Given the description of an element on the screen output the (x, y) to click on. 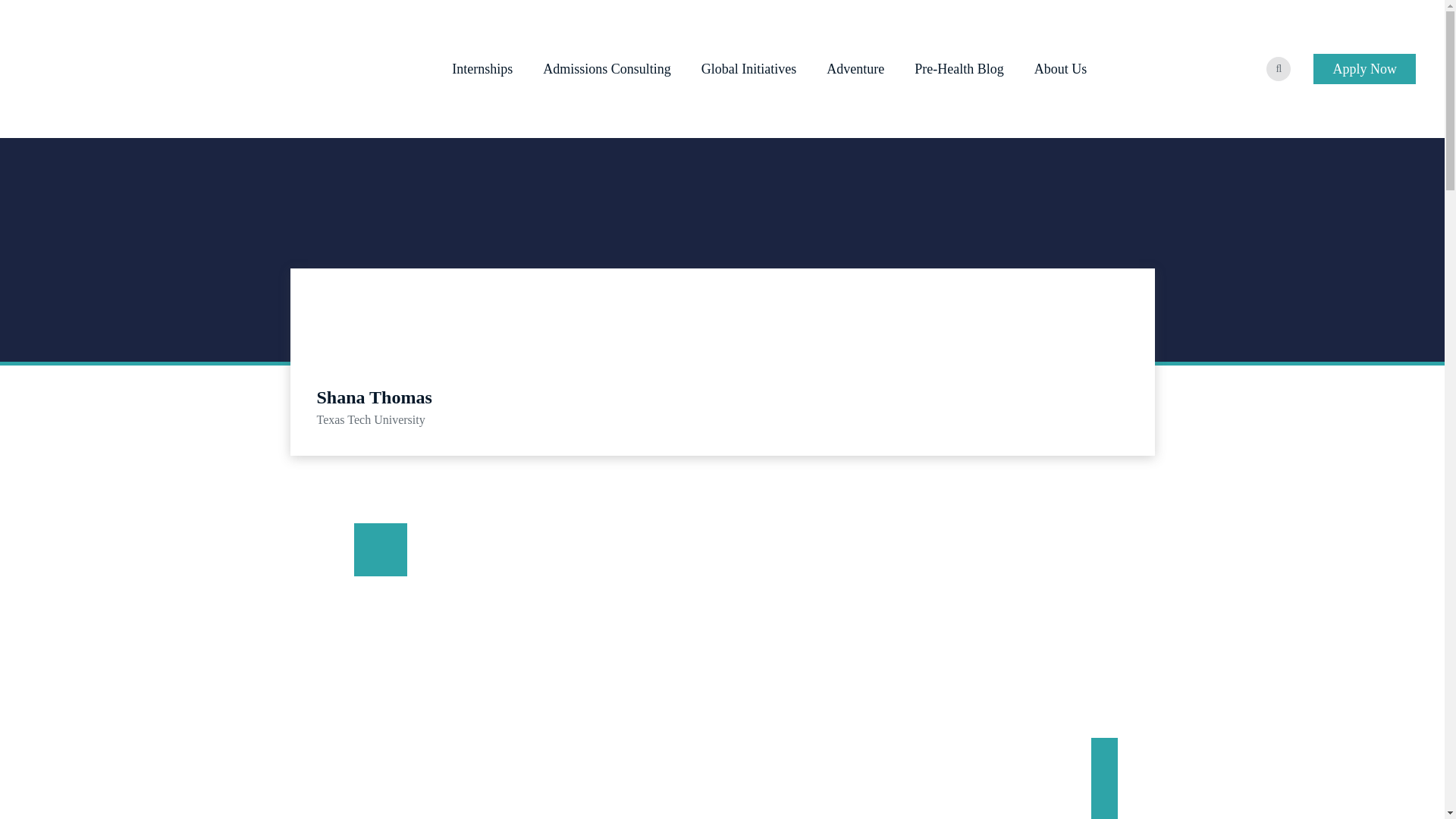
Admissions Consulting (607, 68)
Pre-Health Blog (958, 68)
Adventure (855, 68)
Internships (481, 68)
Global Initiatives (748, 68)
